Given the description of an element on the screen output the (x, y) to click on. 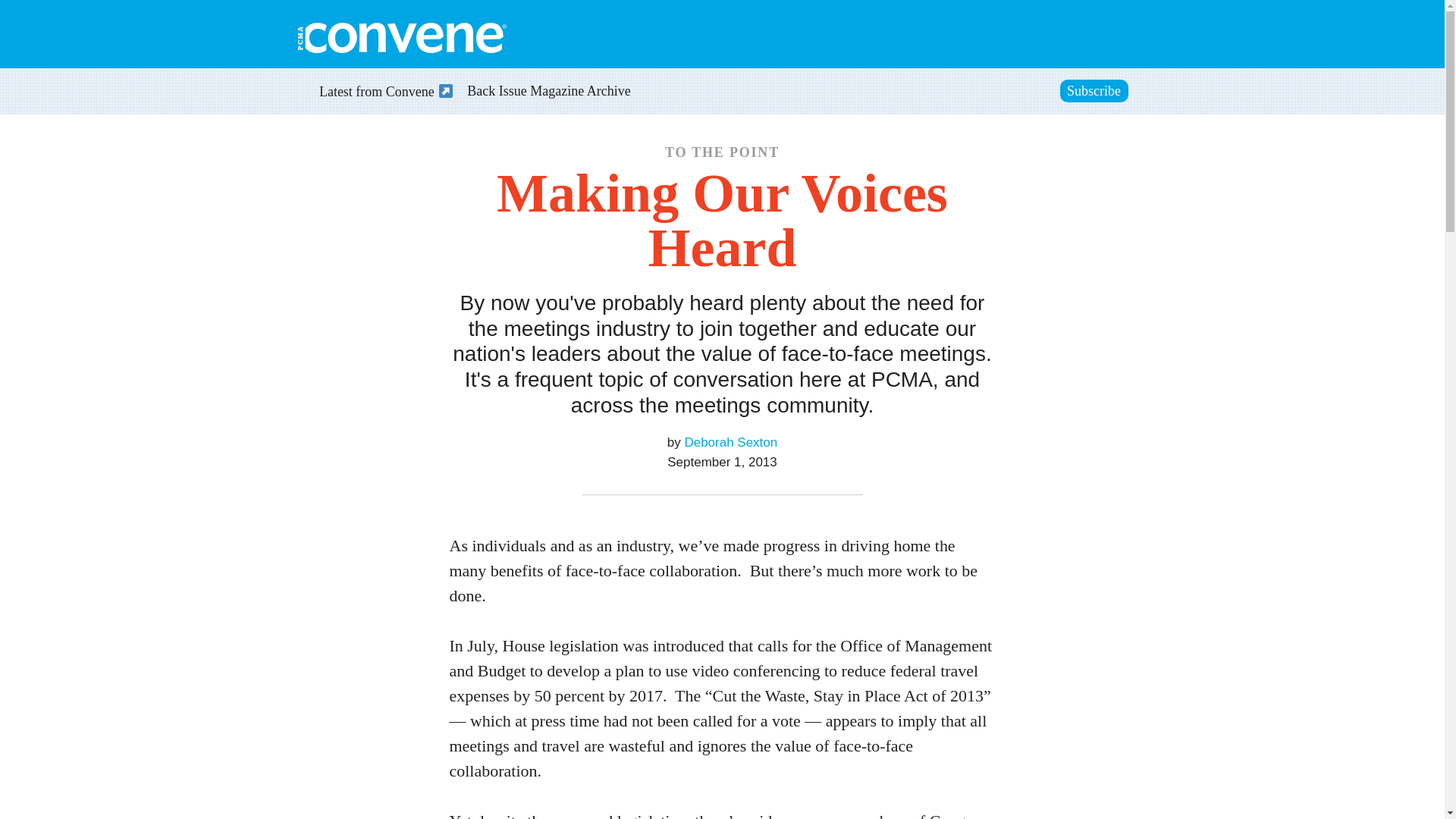
Latest from Convene (378, 92)
Posts by Deborah Sexton (730, 441)
PCMA Convene (401, 37)
Back Issue Magazine Archive (548, 92)
PCMA CONVENE (401, 37)
Subscribe (1093, 90)
Deborah Sexton (730, 441)
